Given the description of an element on the screen output the (x, y) to click on. 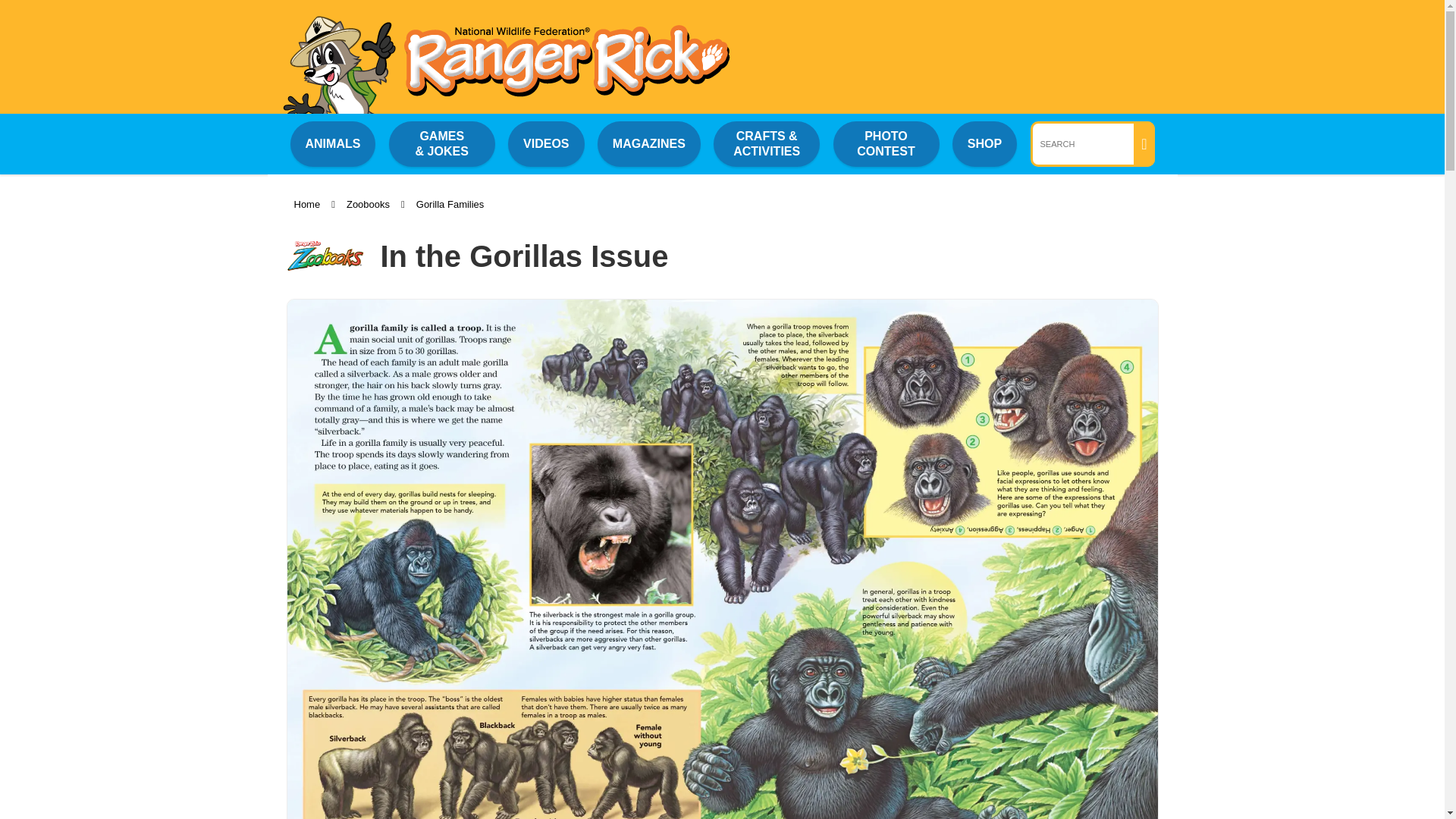
PHOTO CONTEST (885, 144)
SHOP (984, 143)
Zoobooks (368, 204)
MAGAZINES (648, 143)
VIDEOS (545, 143)
Home (307, 204)
ANIMALS (332, 143)
